Given the description of an element on the screen output the (x, y) to click on. 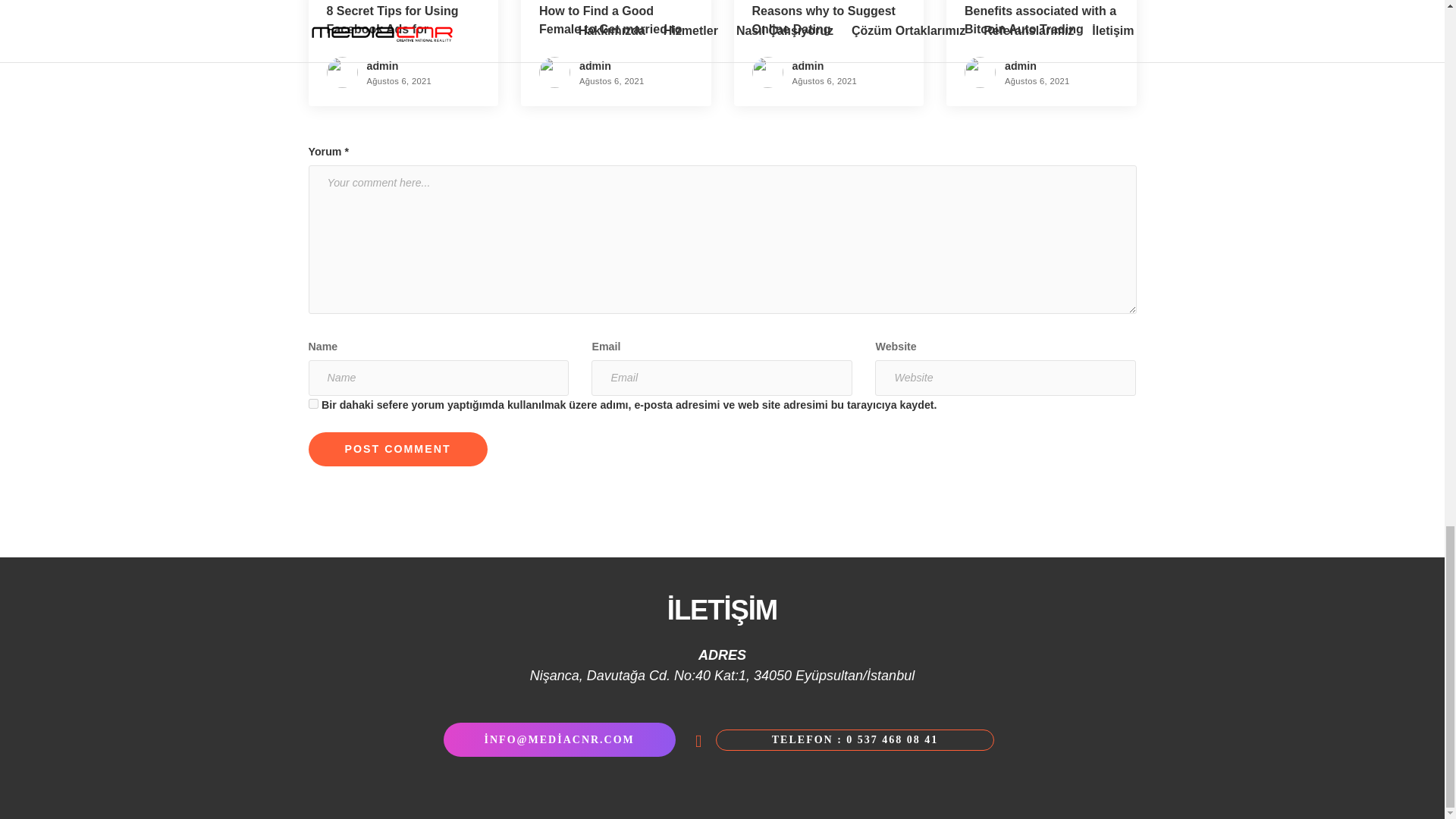
Benefits associated with a Bitcoin Auto Trading System (1039, 29)
How to Find a Good Female to Get married to (610, 20)
TELEFON : 0 537 468 08 41 (855, 740)
admin (382, 65)
Post Comment (396, 449)
yes (312, 403)
Post Comment (396, 449)
Reasons why to Suggest Online Dating (823, 20)
admin (1020, 65)
8 Secret Tips for Using Facebook Ads for Ecommerce (392, 29)
admin (808, 65)
admin (595, 65)
